Given the description of an element on the screen output the (x, y) to click on. 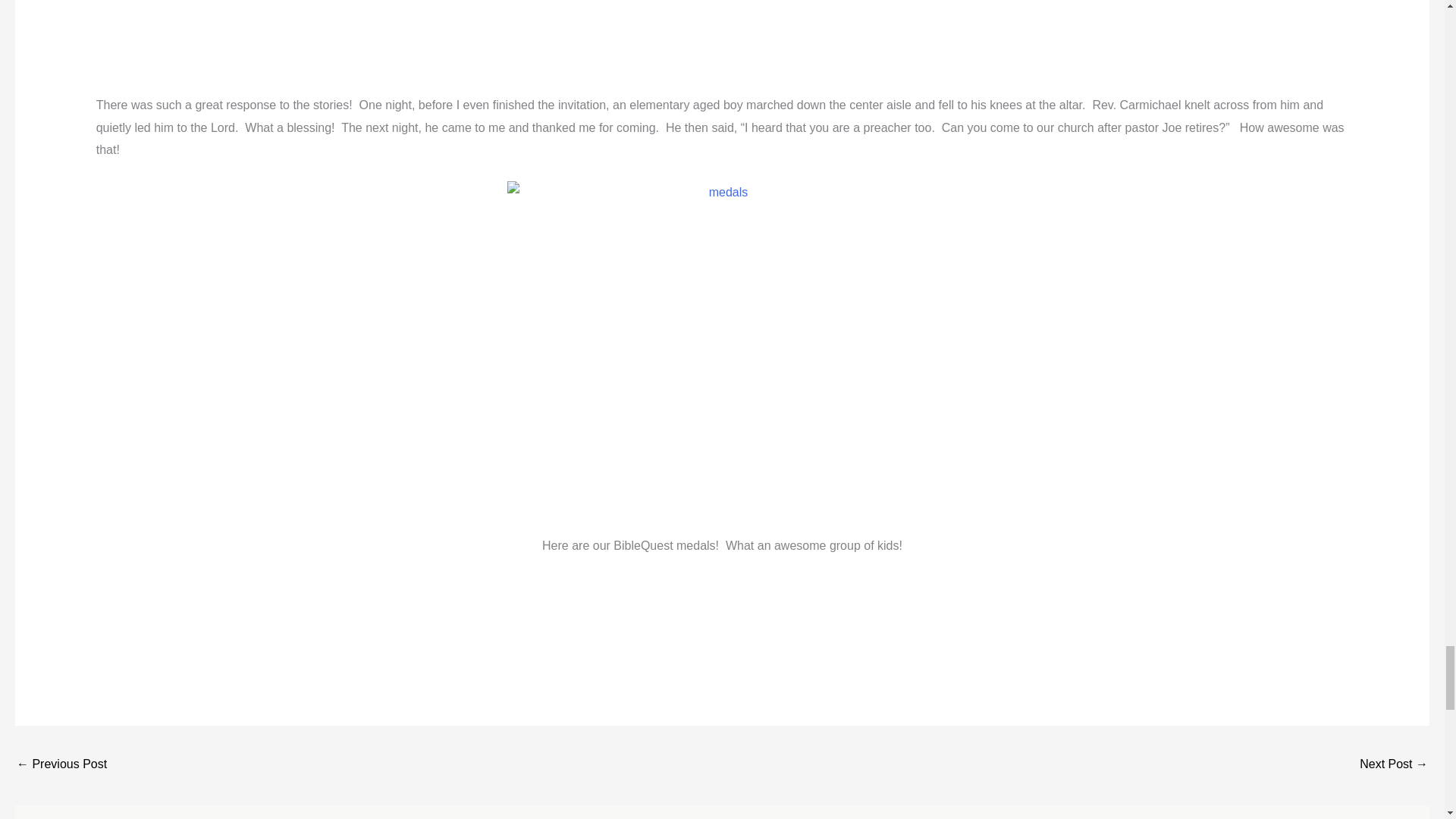
March 2014 (61, 765)
Easter 2014 (1393, 765)
